Given the description of an element on the screen output the (x, y) to click on. 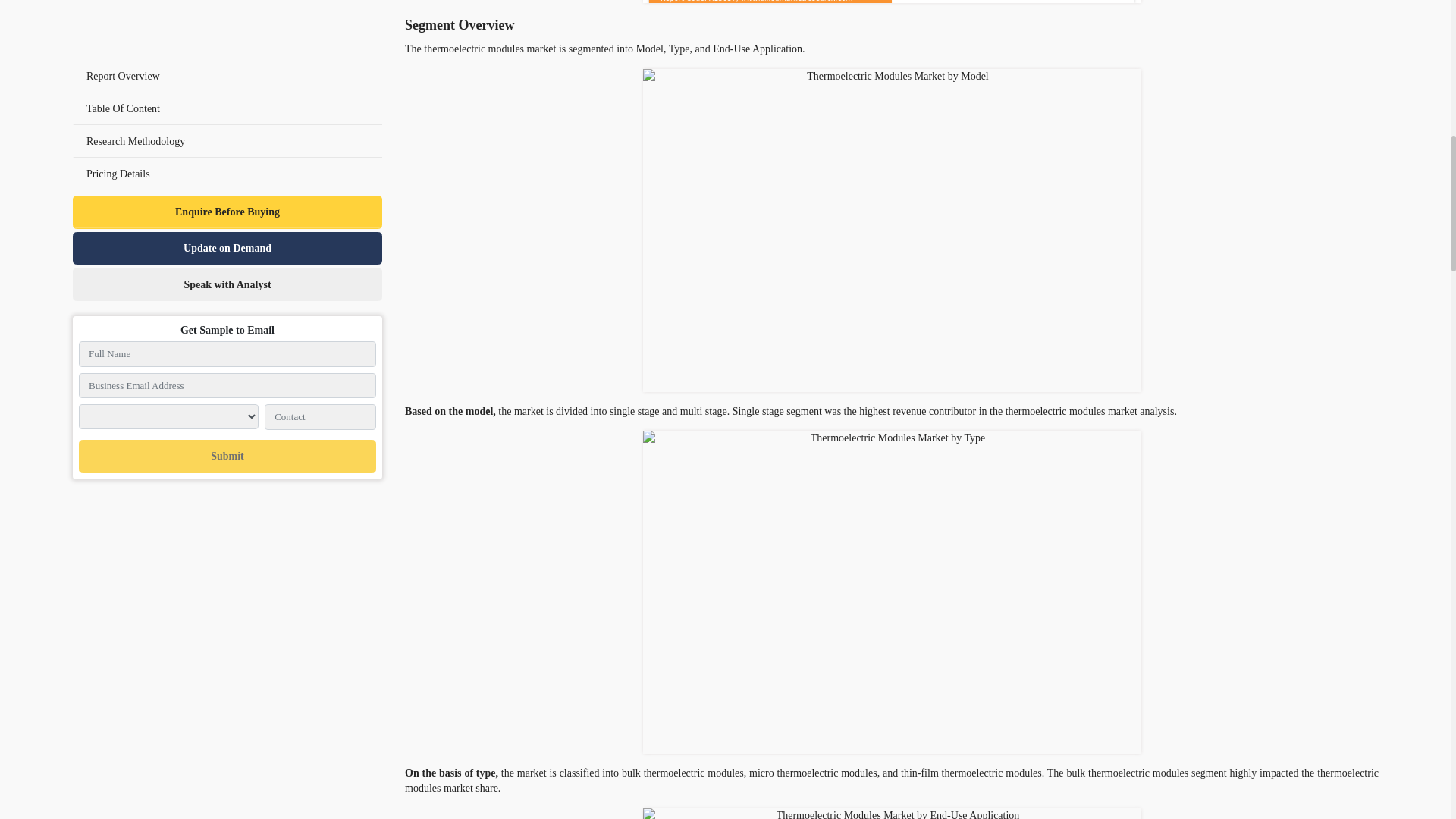
Thermoelectric Modules Market by End-Use Application (892, 813)
